Given the description of an element on the screen output the (x, y) to click on. 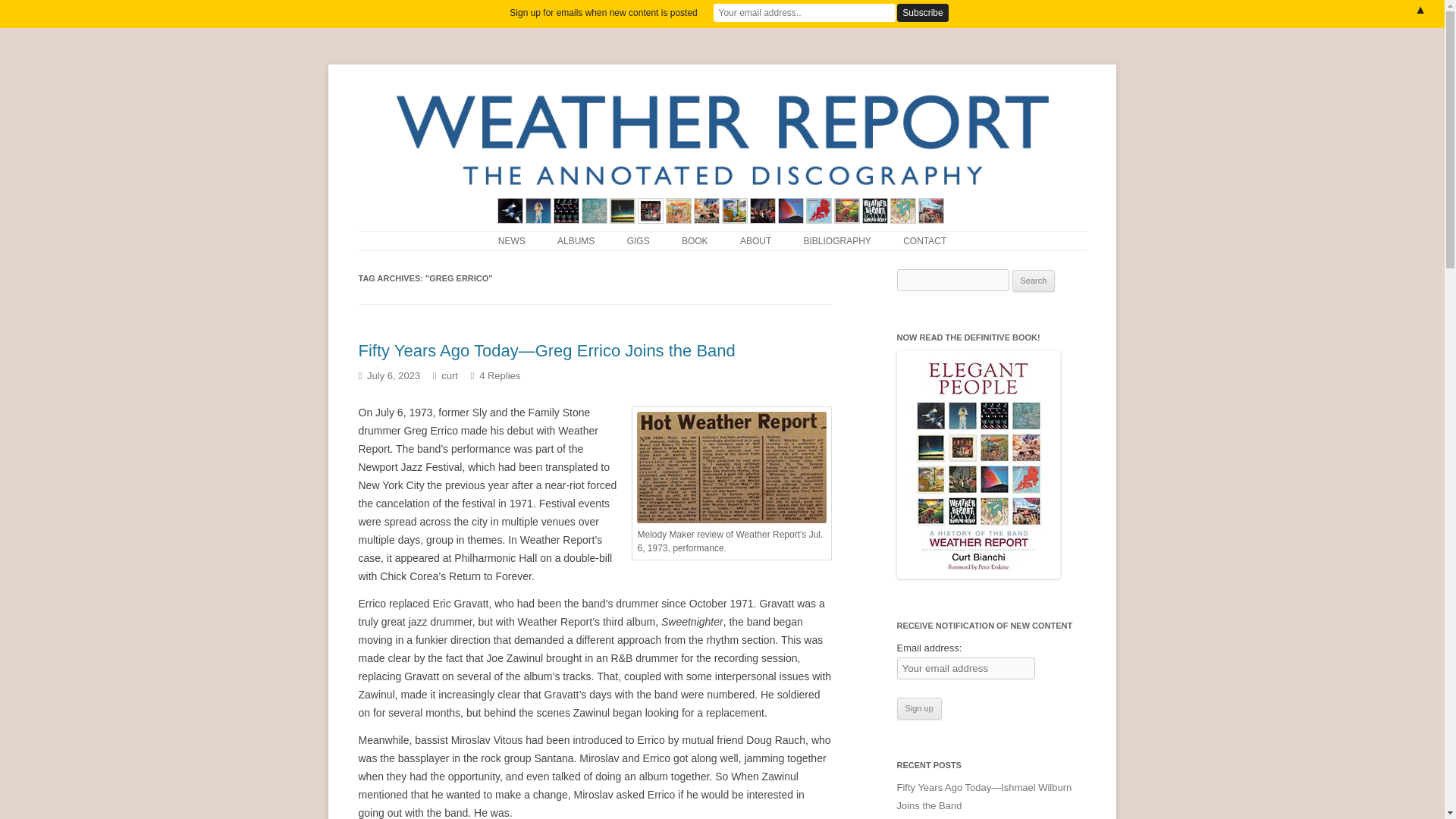
GIGS (638, 240)
The Weather Report Annotated Discography (564, 82)
Search (1033, 281)
Sign up (918, 708)
ABOUT (755, 240)
Skip to content (393, 236)
The Weather Report Annotated Discography (564, 82)
4 Replies (499, 375)
BIBLIOGRAPHY (836, 240)
curt (449, 375)
Subscribe (921, 13)
ALBUMS (575, 240)
Skip to content (393, 236)
Posts by curt (449, 375)
BOOK (694, 240)
